Given the description of an element on the screen output the (x, y) to click on. 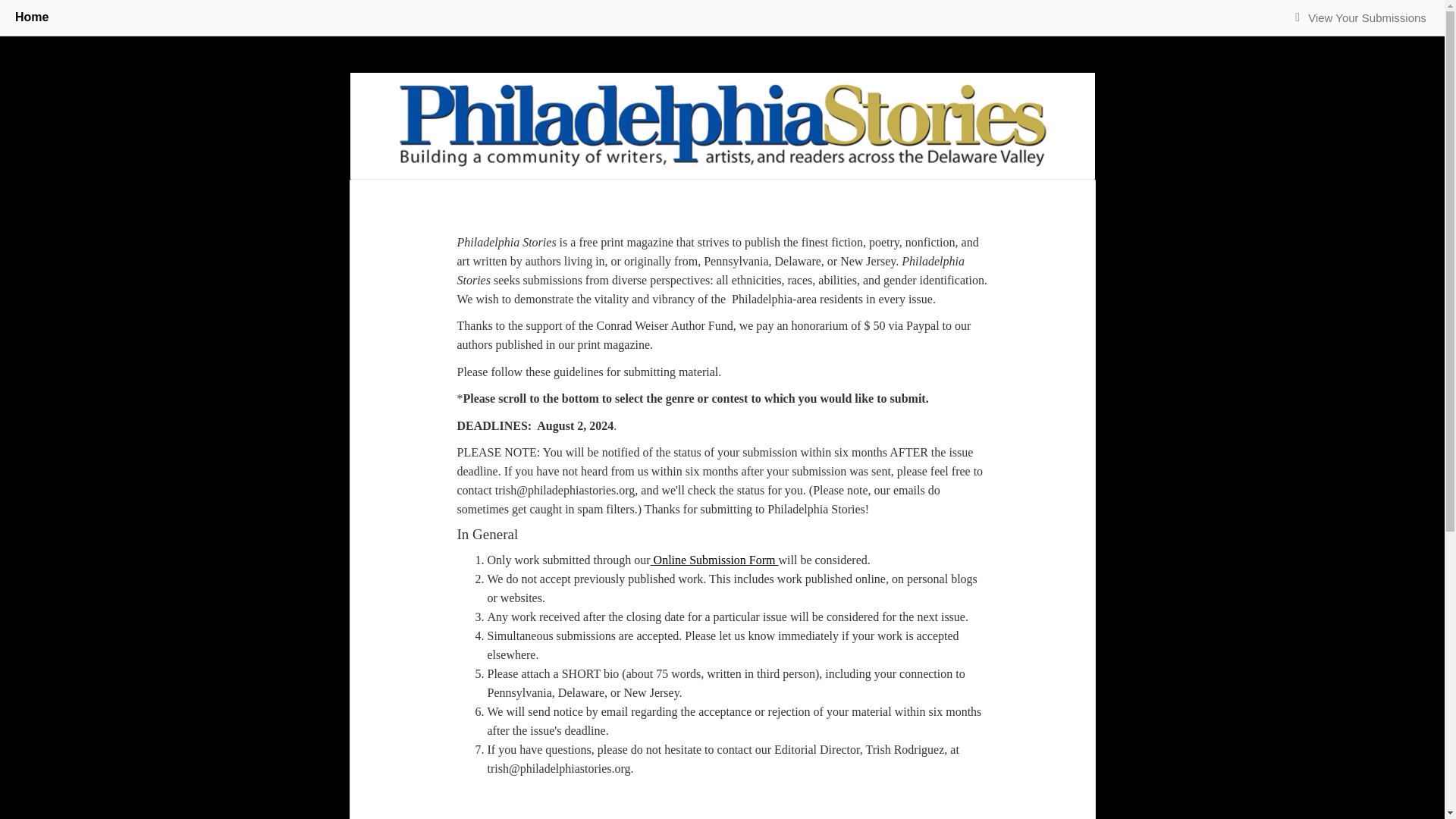
Online Submission Form (715, 559)
View Your Submissions (1366, 17)
Home (31, 16)
